Given the description of an element on the screen output the (x, y) to click on. 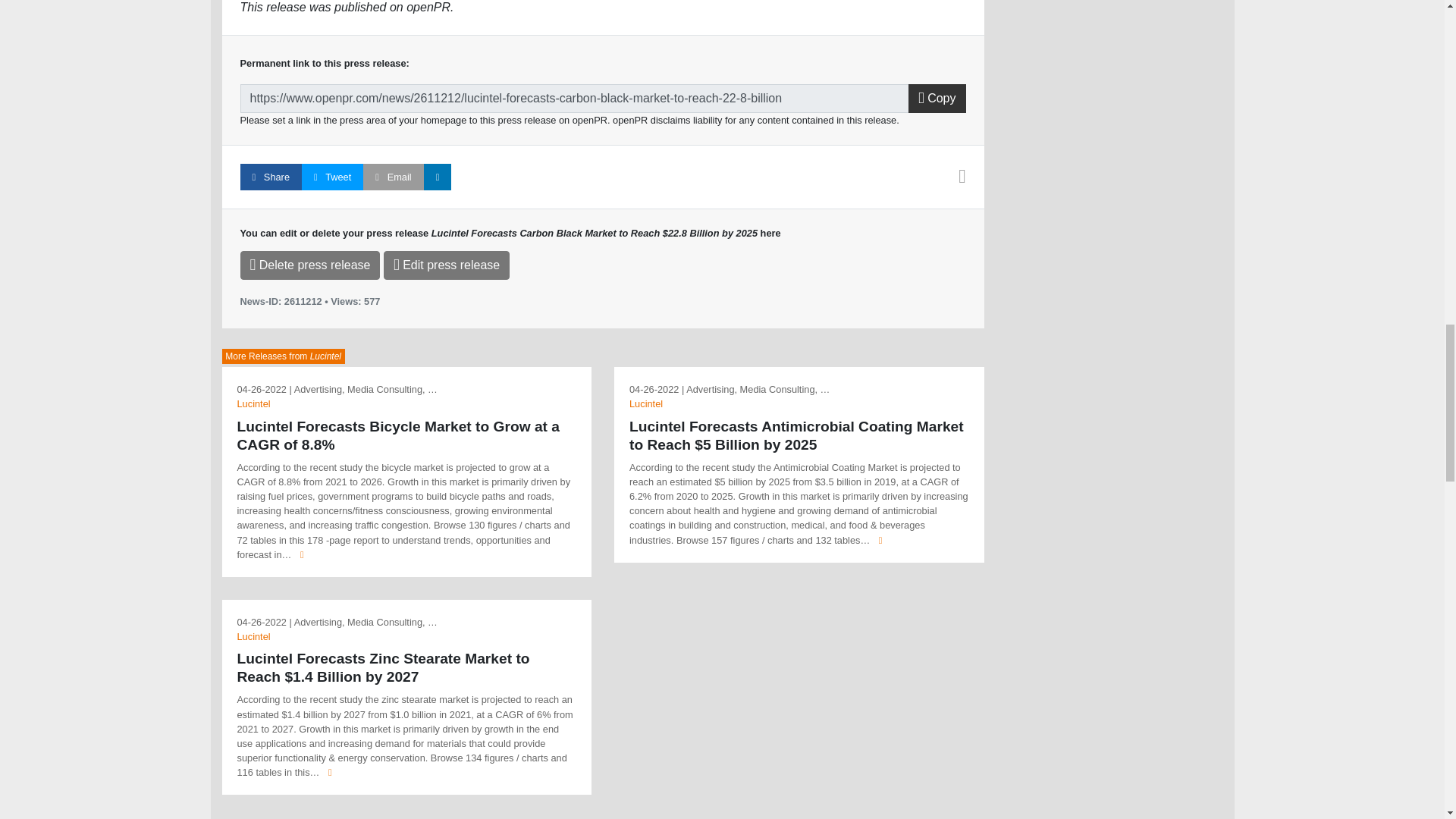
Advertising, Media Consulting, Marketing Research (366, 622)
Permalink (574, 98)
Advertising, Media Consulting, Marketing Research (366, 389)
Advertising, Media Consulting, Marketing Research (757, 389)
Email (392, 176)
LinkedIn (437, 176)
Facebook (270, 176)
